Given the description of an element on the screen output the (x, y) to click on. 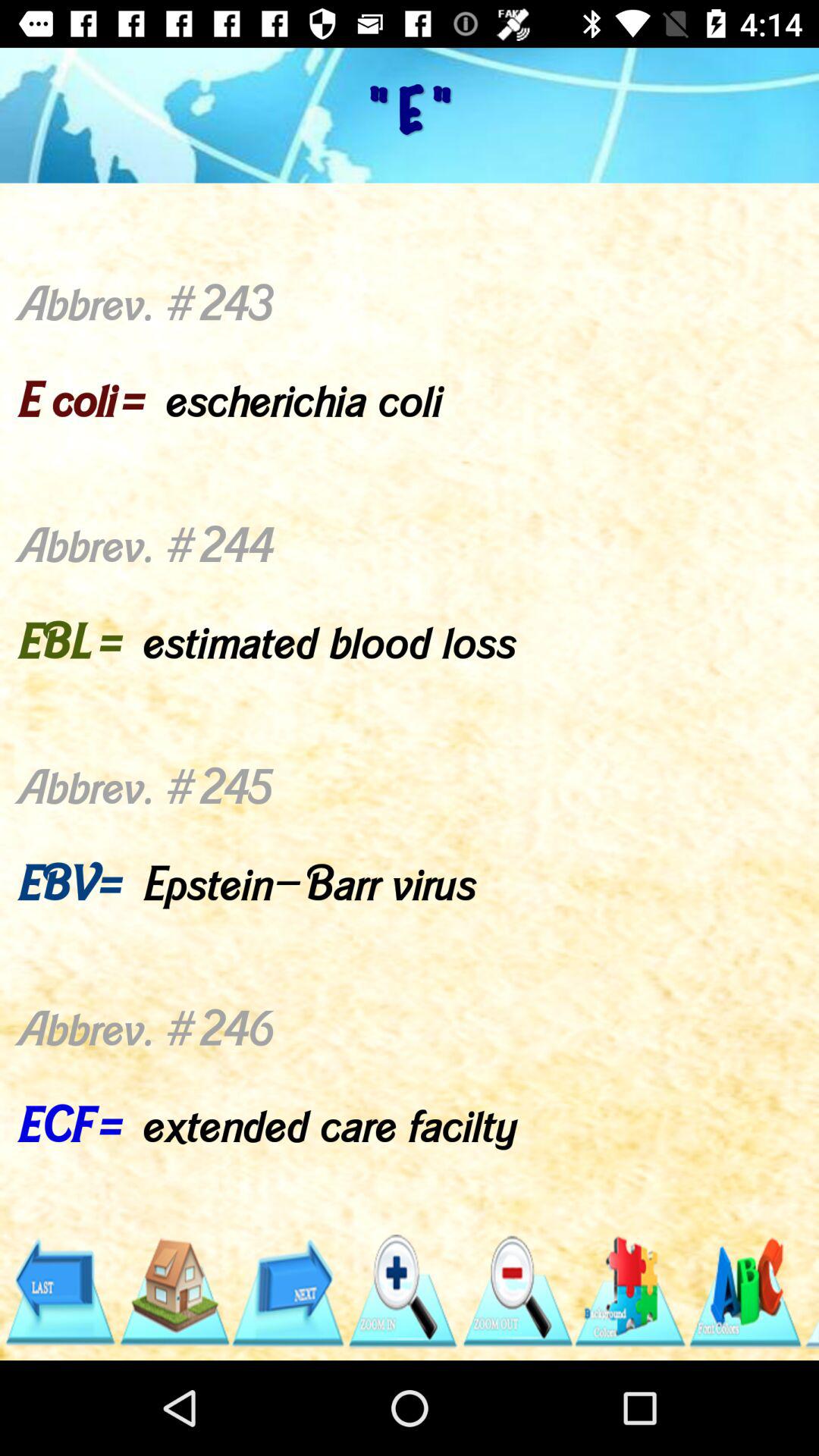
go home (173, 1291)
